Given the description of an element on the screen output the (x, y) to click on. 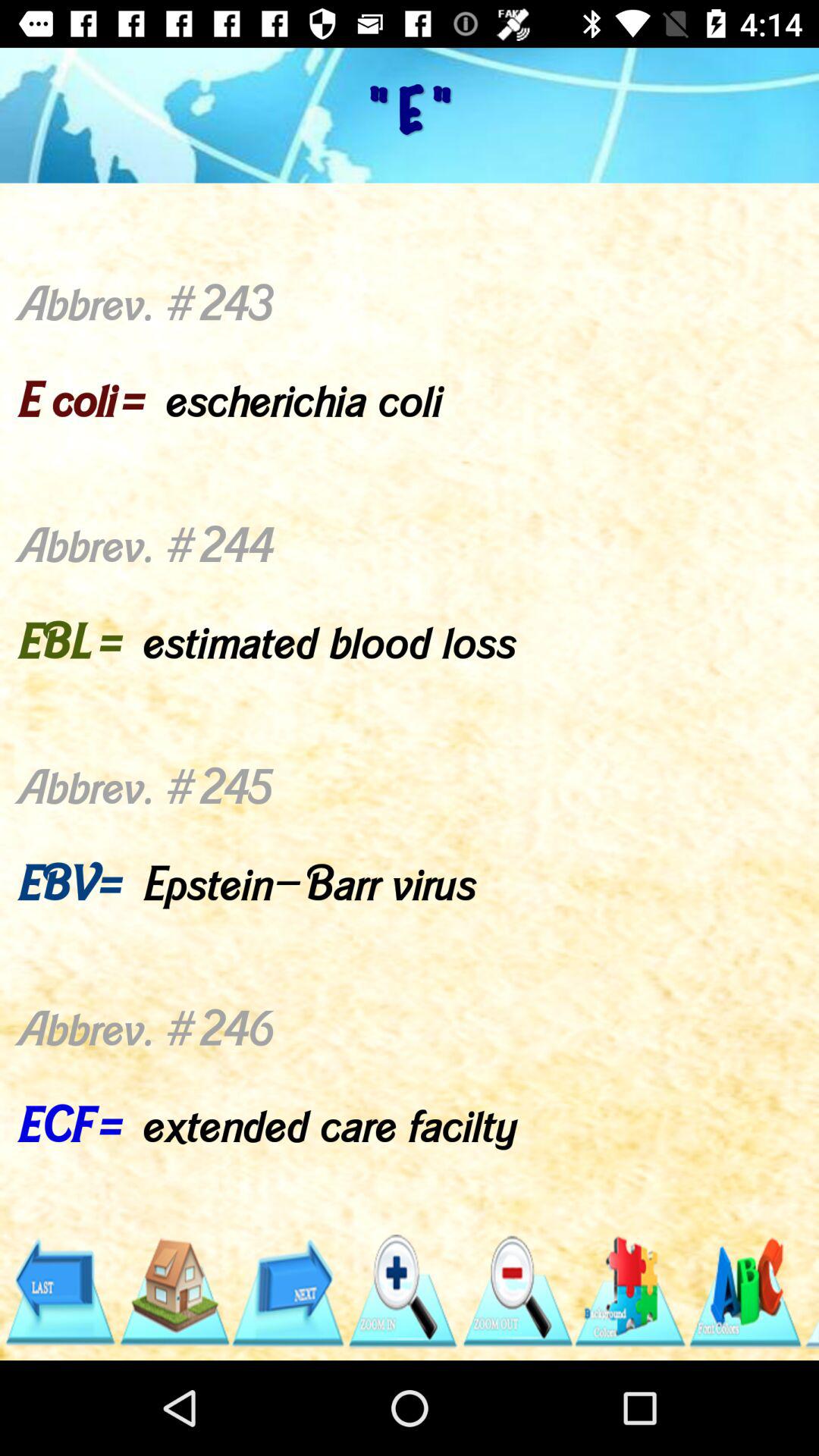
go home (173, 1291)
